Given the description of an element on the screen output the (x, y) to click on. 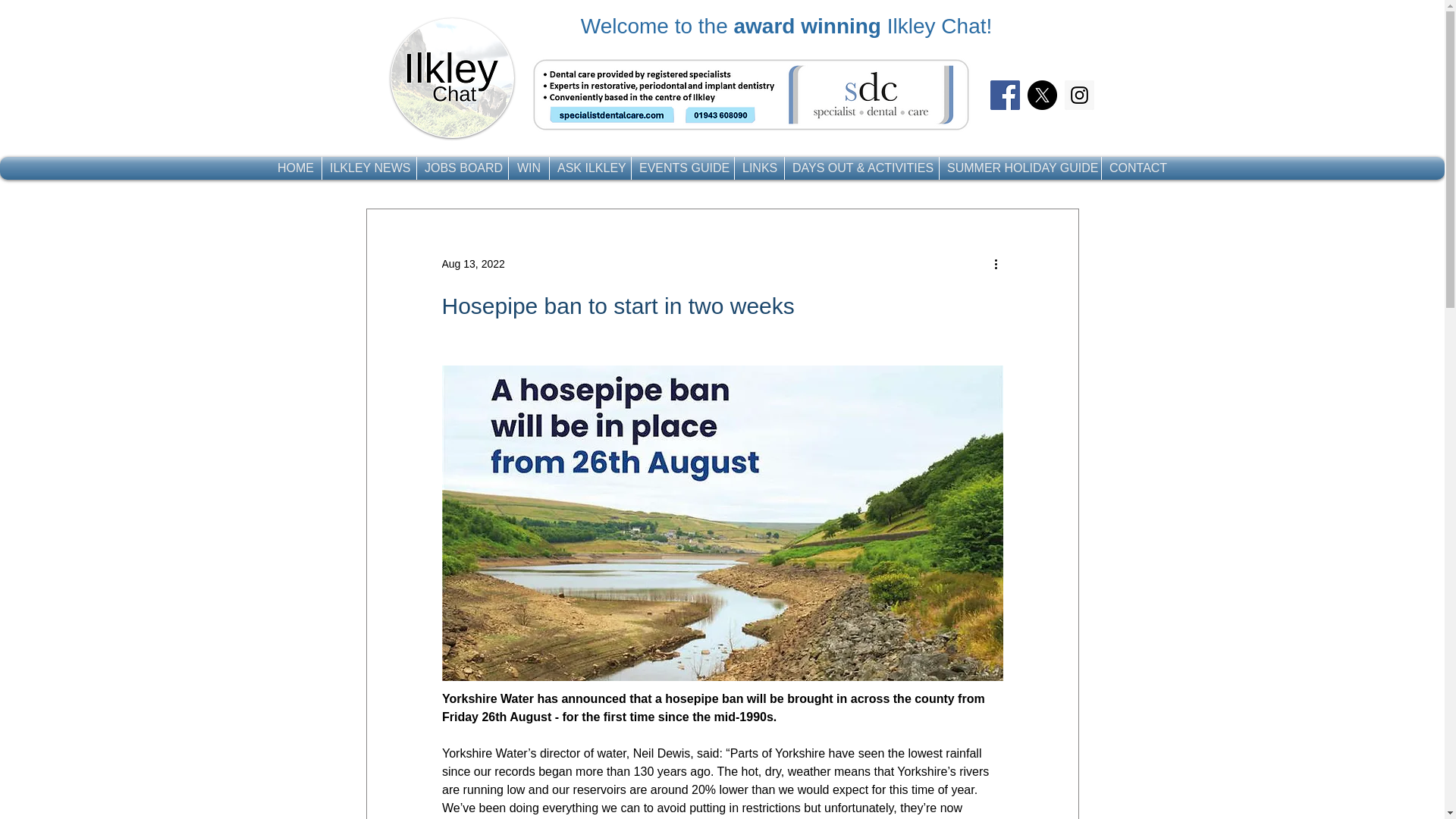
ASK ILKLEY (590, 168)
CONTACT (1138, 168)
JOBS BOARD (462, 168)
LINKS (759, 168)
EVENTS GUIDE (682, 168)
SUMMER HOLIDAY GUIDE (1019, 168)
HOME (295, 168)
WIN (528, 168)
Aug 13, 2022 (472, 263)
